Given the description of an element on the screen output the (x, y) to click on. 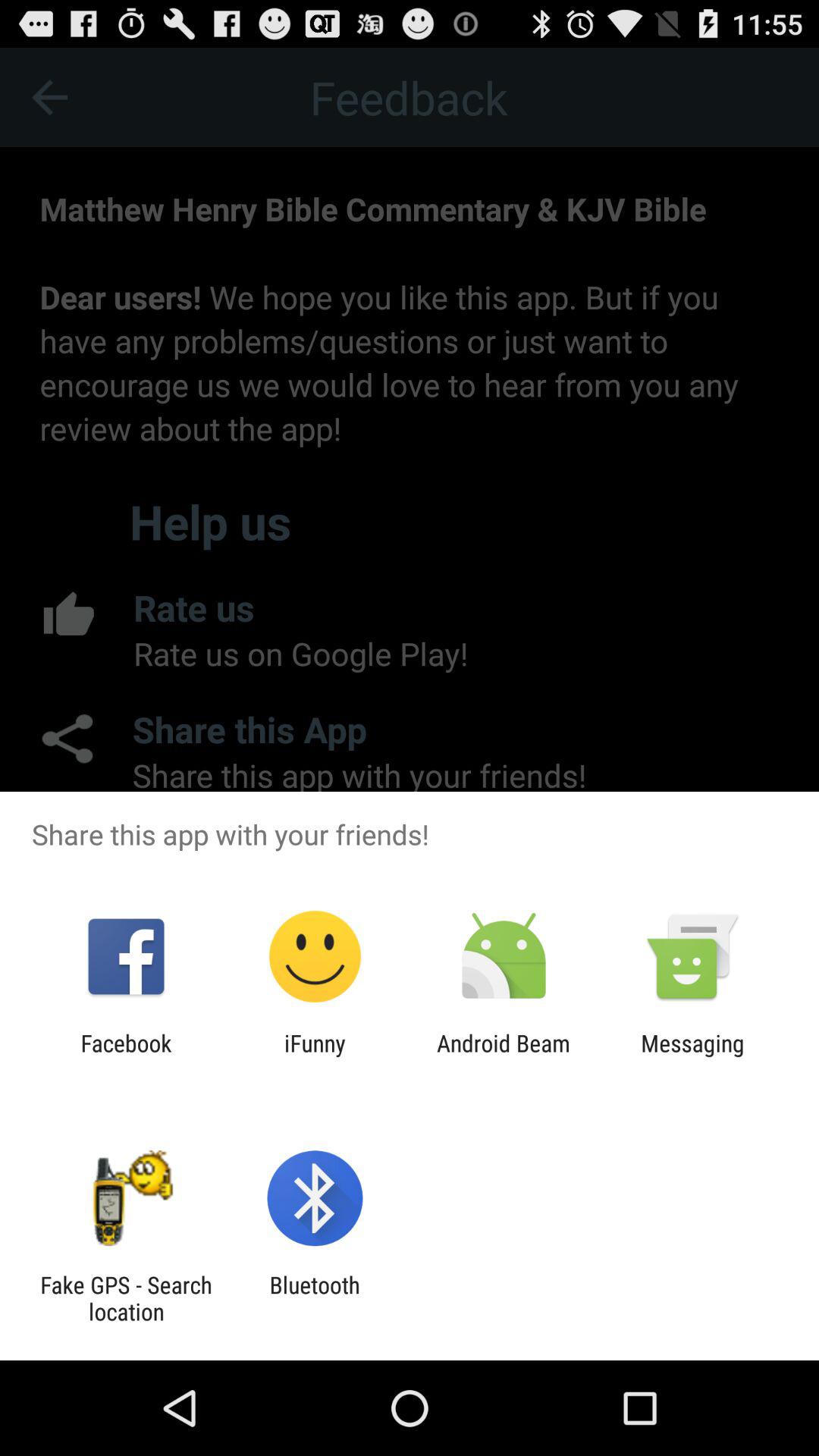
open ifunny (314, 1056)
